Given the description of an element on the screen output the (x, y) to click on. 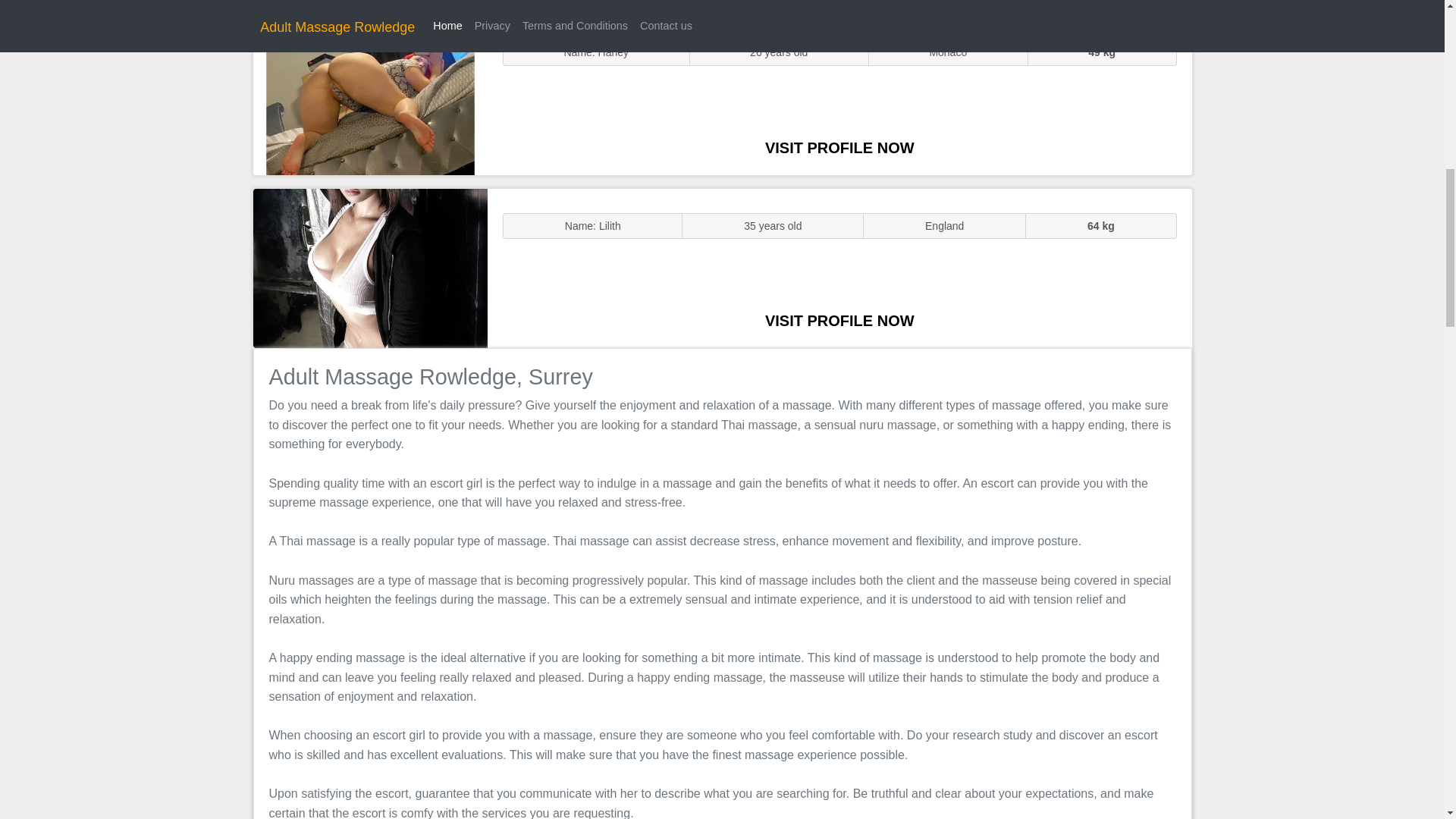
Sluts (370, 94)
VISIT PROFILE NOW (839, 320)
Massage (370, 267)
VISIT PROFILE NOW (839, 147)
